Given the description of an element on the screen output the (x, y) to click on. 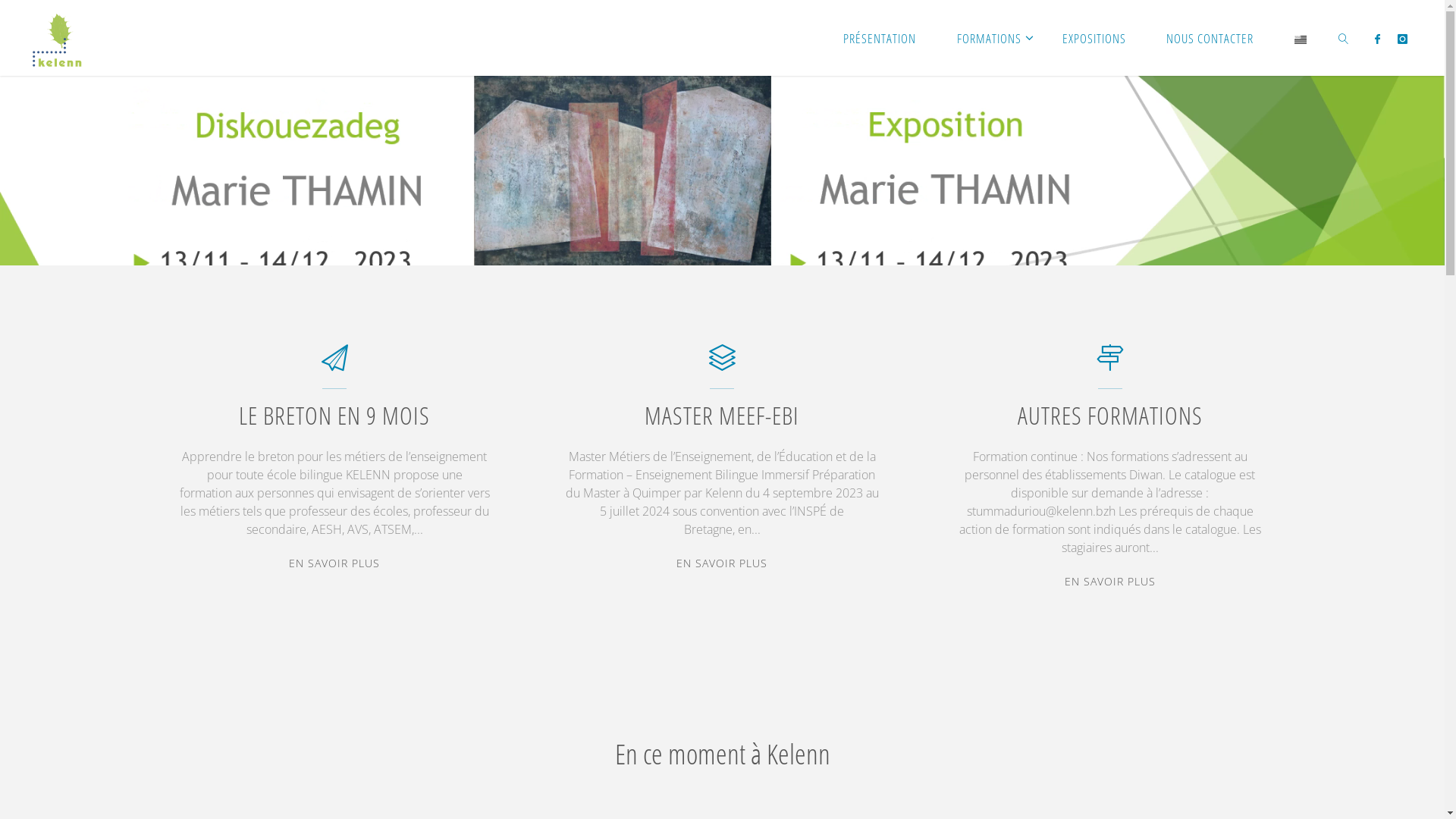
Facebook Element type: hover (1377, 38)
CHERCHER Element type: text (1343, 37)
NOUS CONTACTER Element type: text (1209, 37)
EN SAVOIR PLUS
"AUTRES FORMATIONS" Element type: text (1109, 581)
EXPOSITIONS Element type: text (1093, 37)
EN SAVOIR PLUS
"MASTER MEEF-EBI" Element type: text (721, 563)
Kelenn Element type: hover (56, 37)
FORMATIONS Element type: text (988, 37)
Instagram Element type: hover (1402, 38)
EN SAVOIR PLUS
"LE BRETON EN 9 MOIS" Element type: text (333, 563)
